Given the description of an element on the screen output the (x, y) to click on. 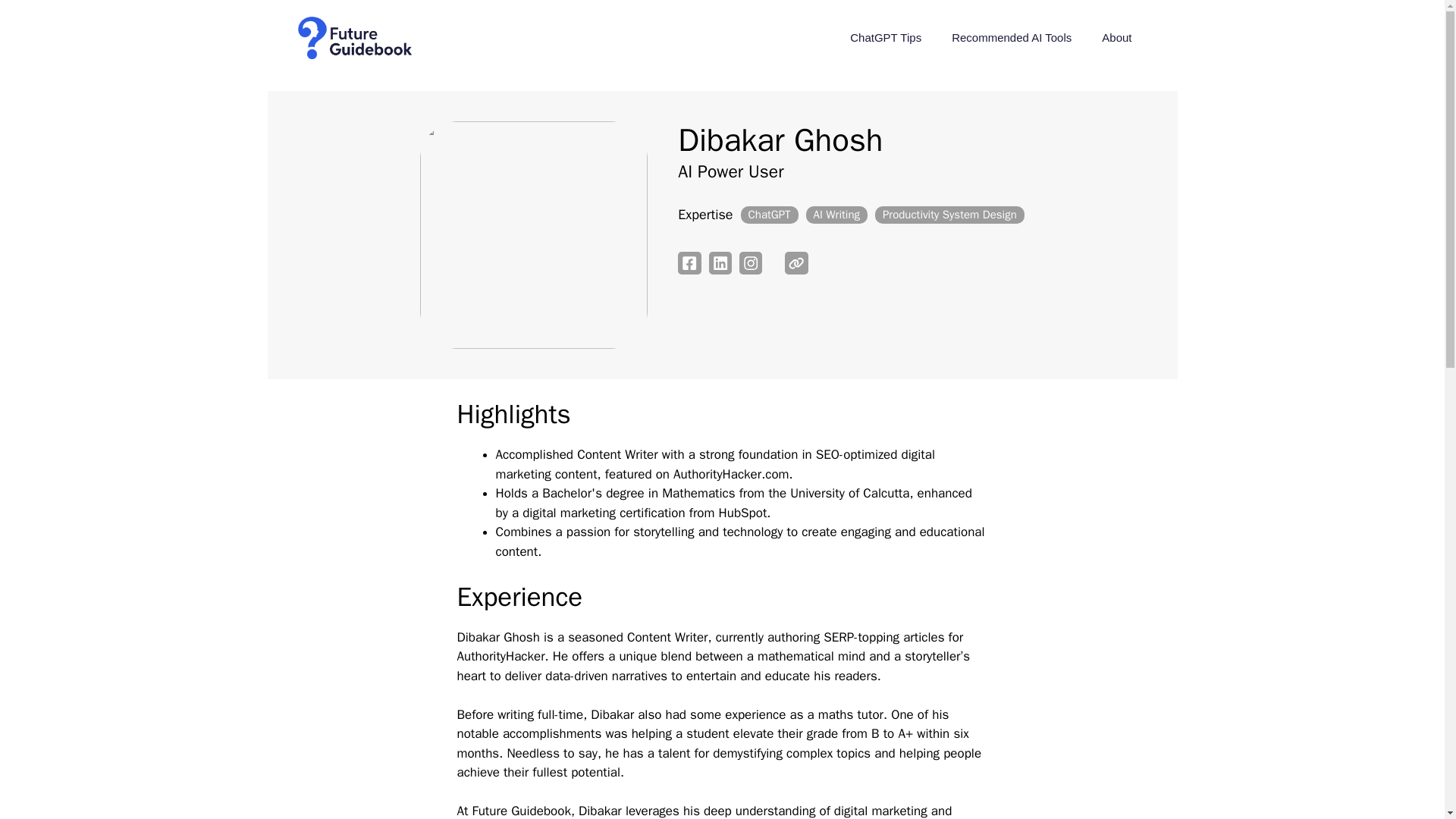
ChatGPT Tips (885, 37)
Recommended AI Tools (1011, 37)
About (1116, 37)
